Given the description of an element on the screen output the (x, y) to click on. 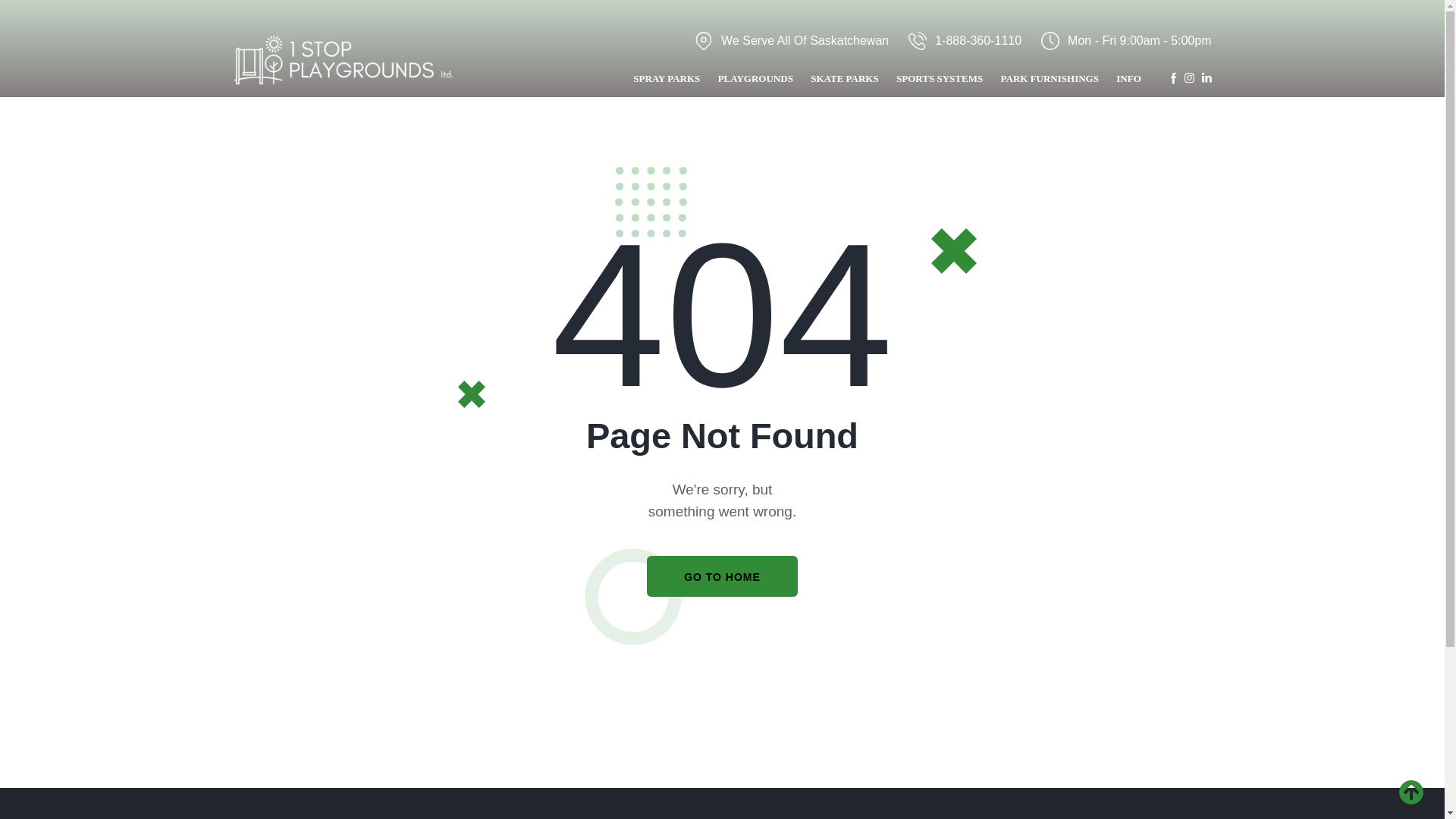
PARK FURNISHINGS Element type: text (1049, 79)
INFO Element type: text (1128, 79)
SPRAY PARKS Element type: text (666, 79)
PLAYGROUNDS Element type: text (755, 79)
GO TO HOME Element type: text (721, 575)
1-888-360-1110 Element type: text (964, 40)
SKATE PARKS Element type: text (845, 79)
We Serve All Of Saskatchewan Element type: text (791, 40)
SPORTS SYSTEMS Element type: text (939, 79)
